Given the description of an element on the screen output the (x, y) to click on. 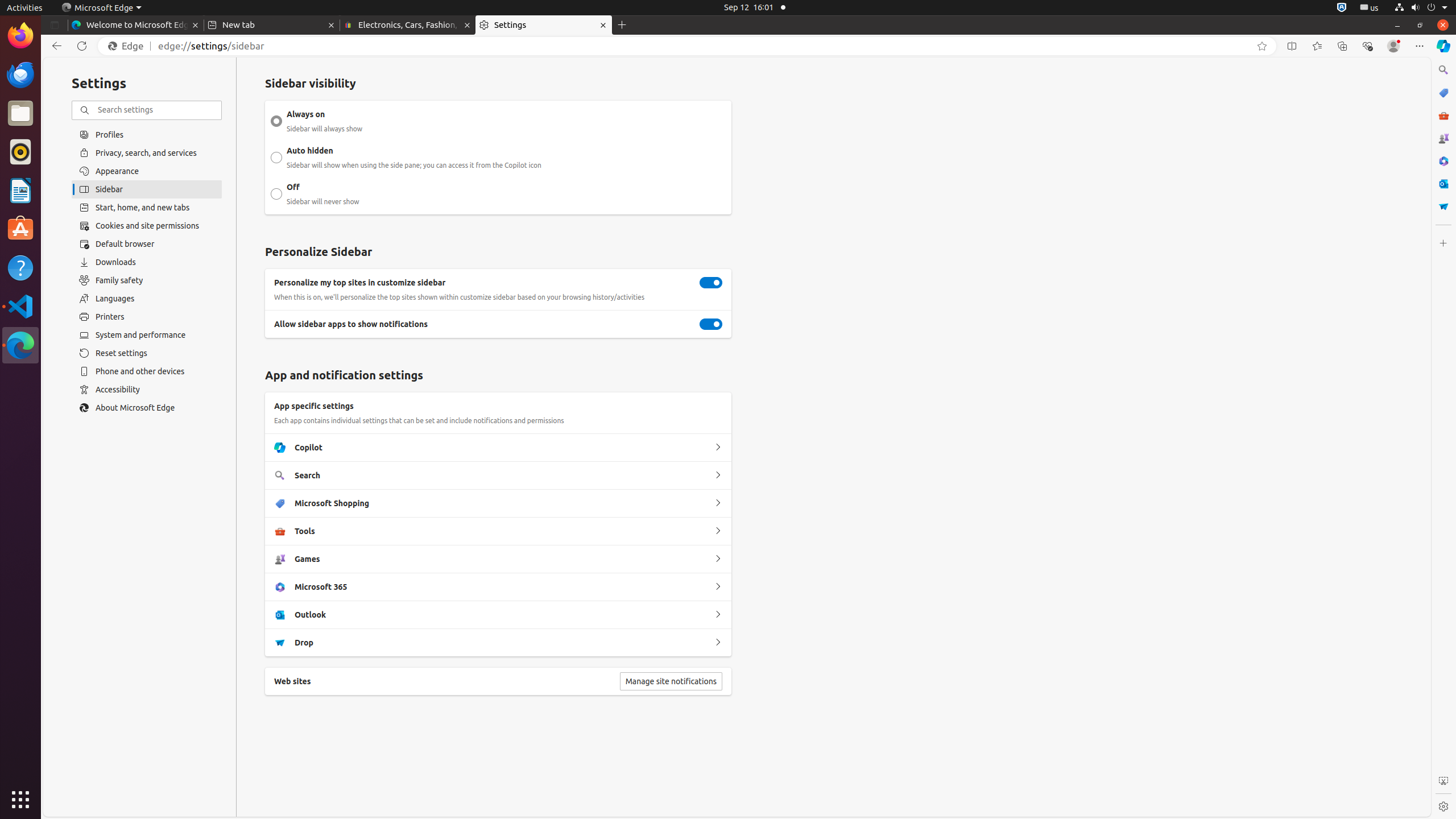
Electronics, Cars, Fashion, Collectibles & More | eBay Element type: page-tab (407, 25)
Microsoft Edge Element type: menu (101, 7)
About Microsoft Edge Element type: tree-item (146, 407)
Favorites Element type: push-button (1316, 45)
Split screen Element type: push-button (1291, 45)
